Given the description of an element on the screen output the (x, y) to click on. 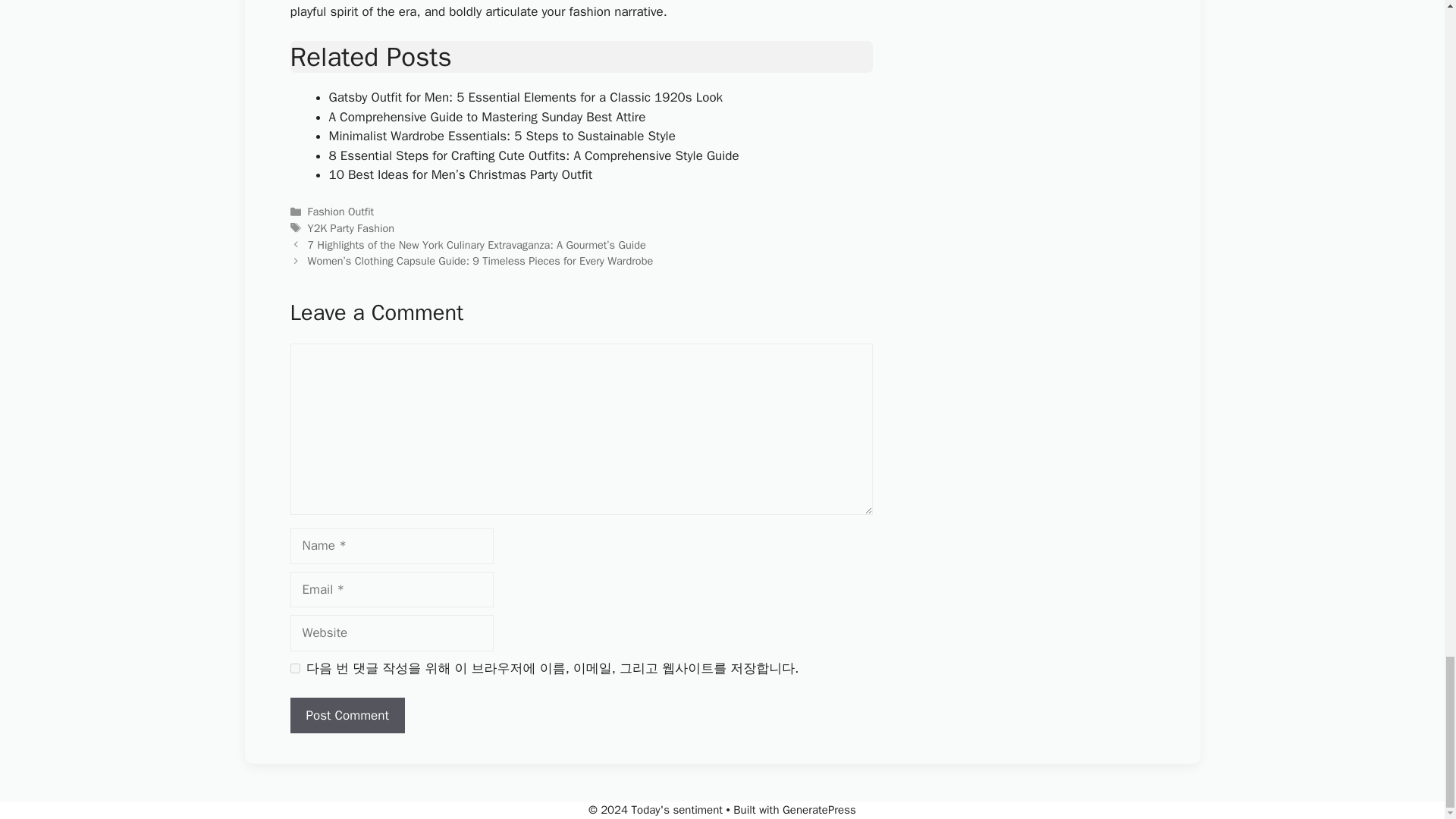
Post Comment (346, 715)
Minimalist Wardrobe Essentials: 5 Steps to Sustainable Style (502, 135)
Y2K Party Fashion (350, 228)
yes (294, 668)
A Comprehensive Guide to Mastering Sunday Best Attire (487, 116)
Fashion Outfit (340, 211)
Post Comment (346, 715)
